Given the description of an element on the screen output the (x, y) to click on. 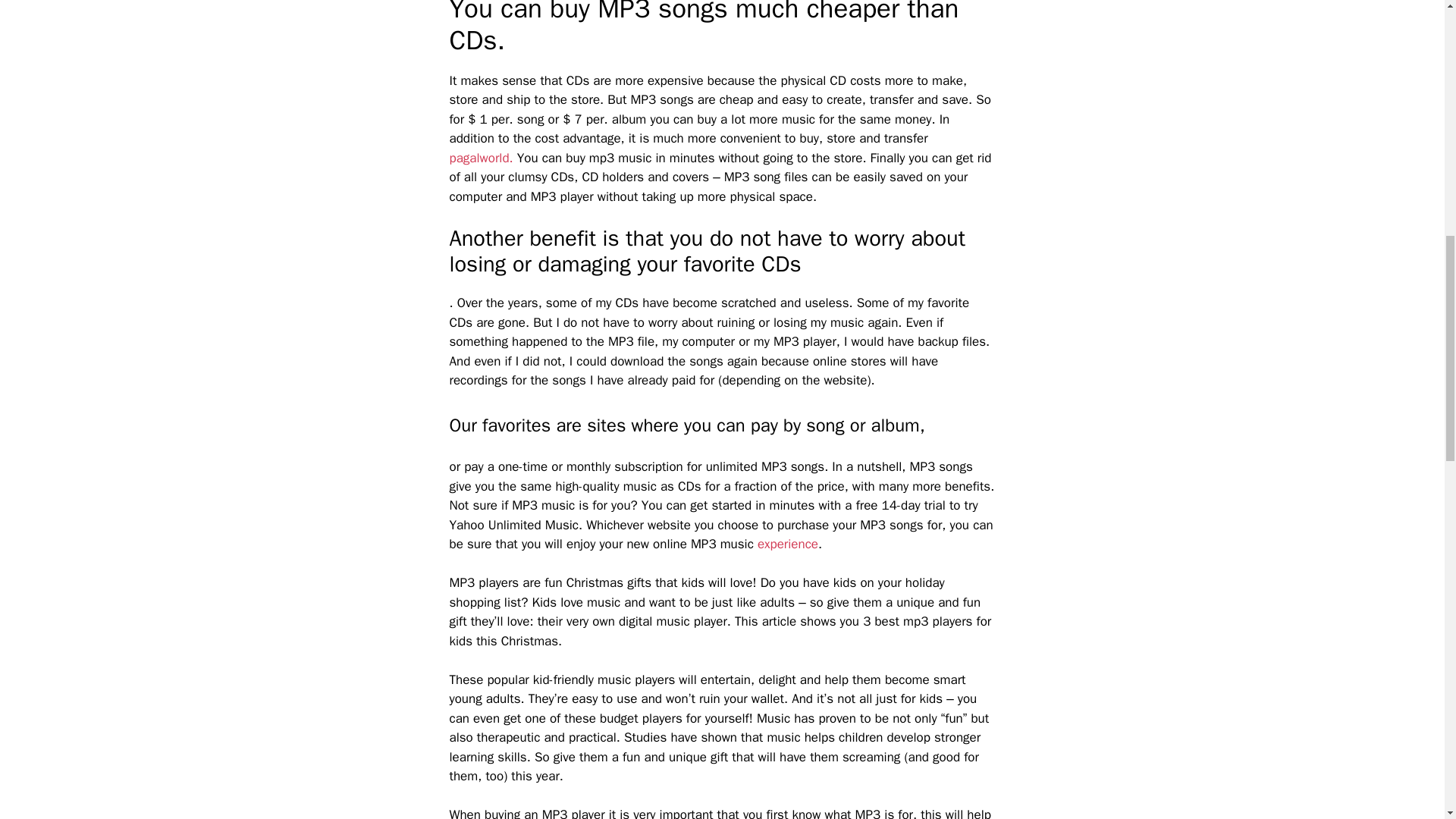
Scroll back to top (1406, 720)
experience (787, 544)
pagalworld. (480, 157)
